Given the description of an element on the screen output the (x, y) to click on. 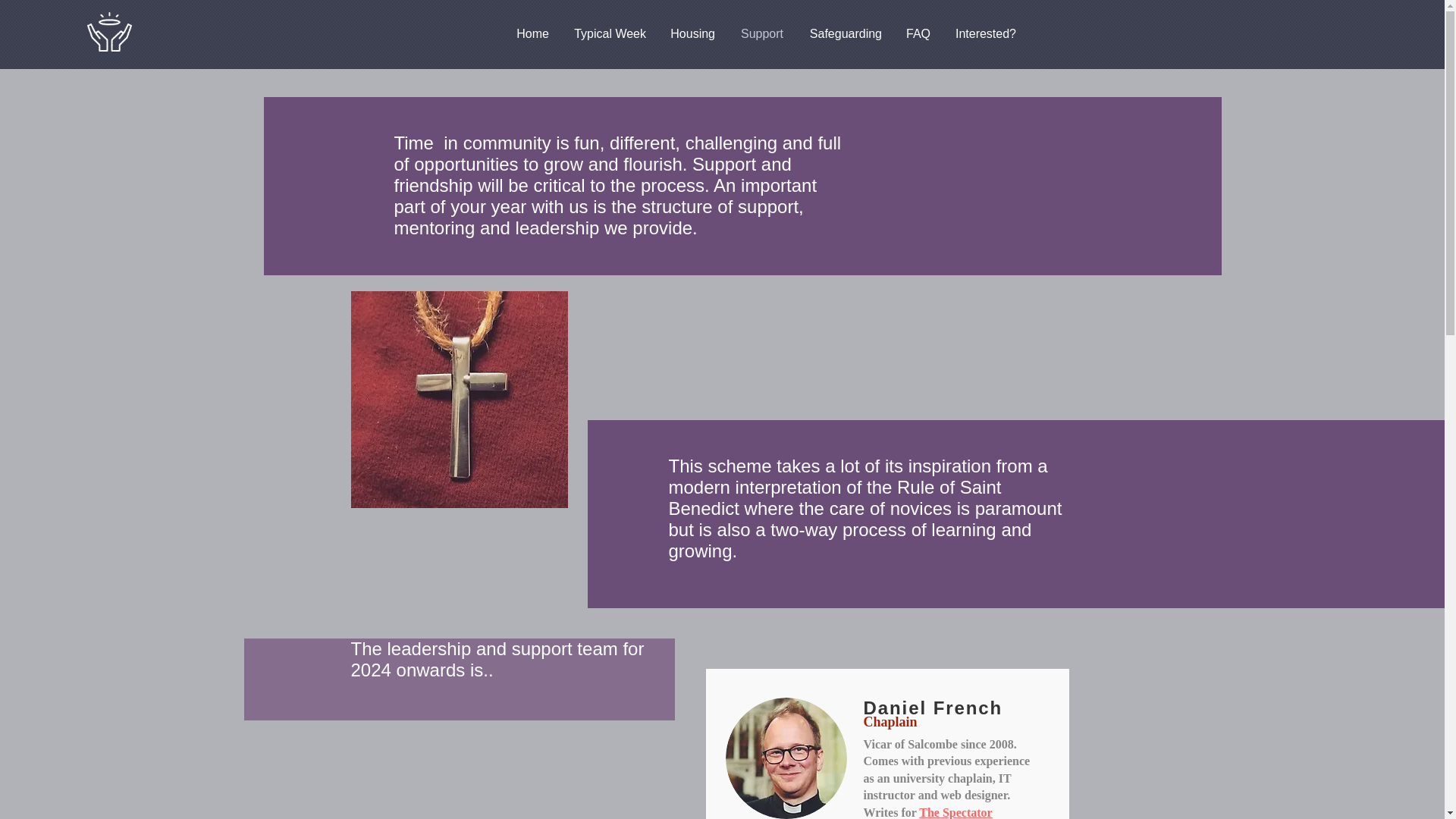
Typical Week (609, 34)
Home (531, 34)
Interested? (984, 34)
The Spectator (954, 812)
Safeguarding (843, 34)
cross.jpg (458, 399)
FAQ (917, 34)
Support (760, 34)
Housing (692, 34)
